Given the description of an element on the screen output the (x, y) to click on. 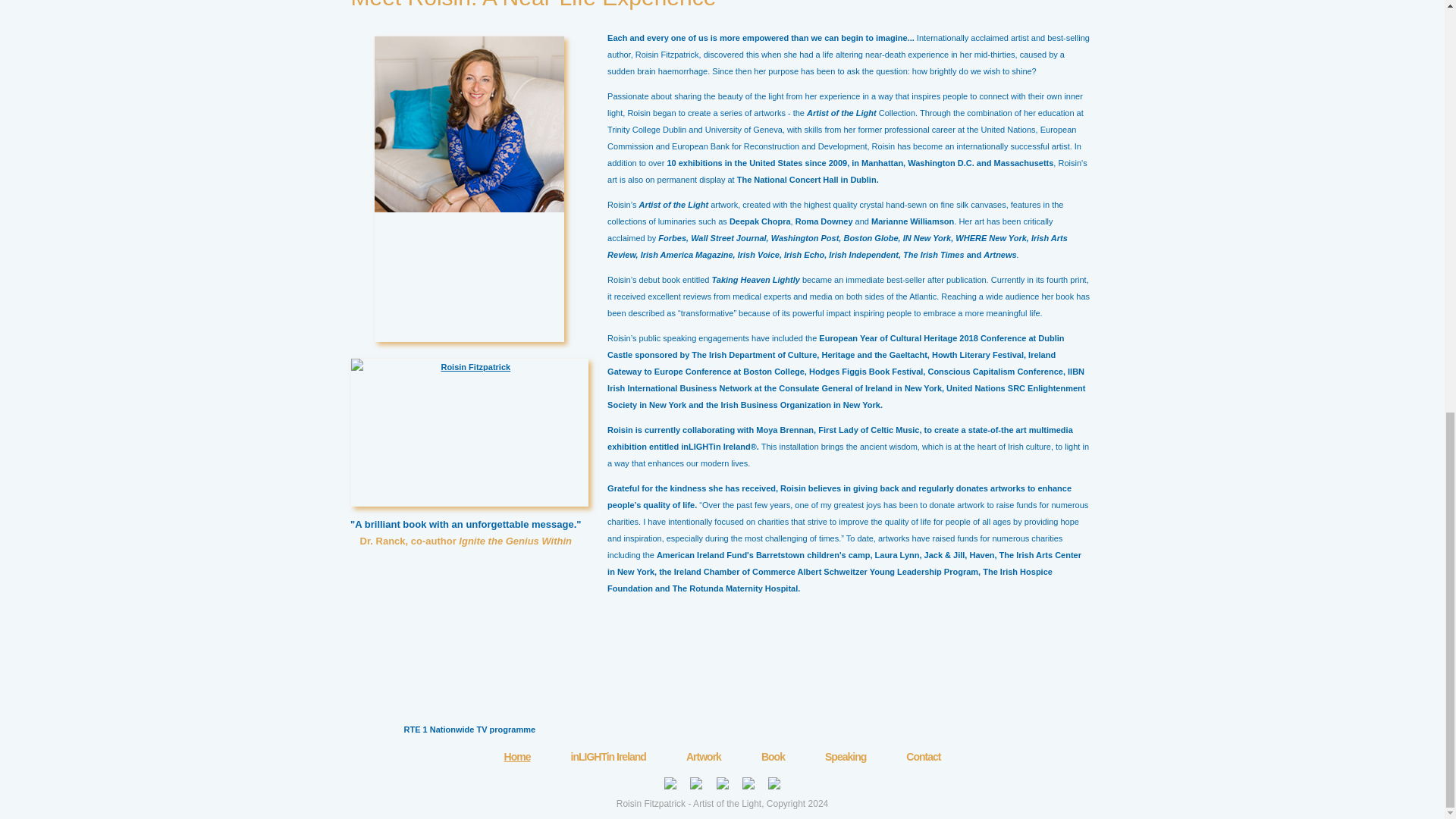
Speaking (845, 756)
inLIGHTin Ireland (608, 756)
Contact (922, 756)
Book (772, 756)
Artwork (702, 756)
Home (517, 756)
